Given the description of an element on the screen output the (x, y) to click on. 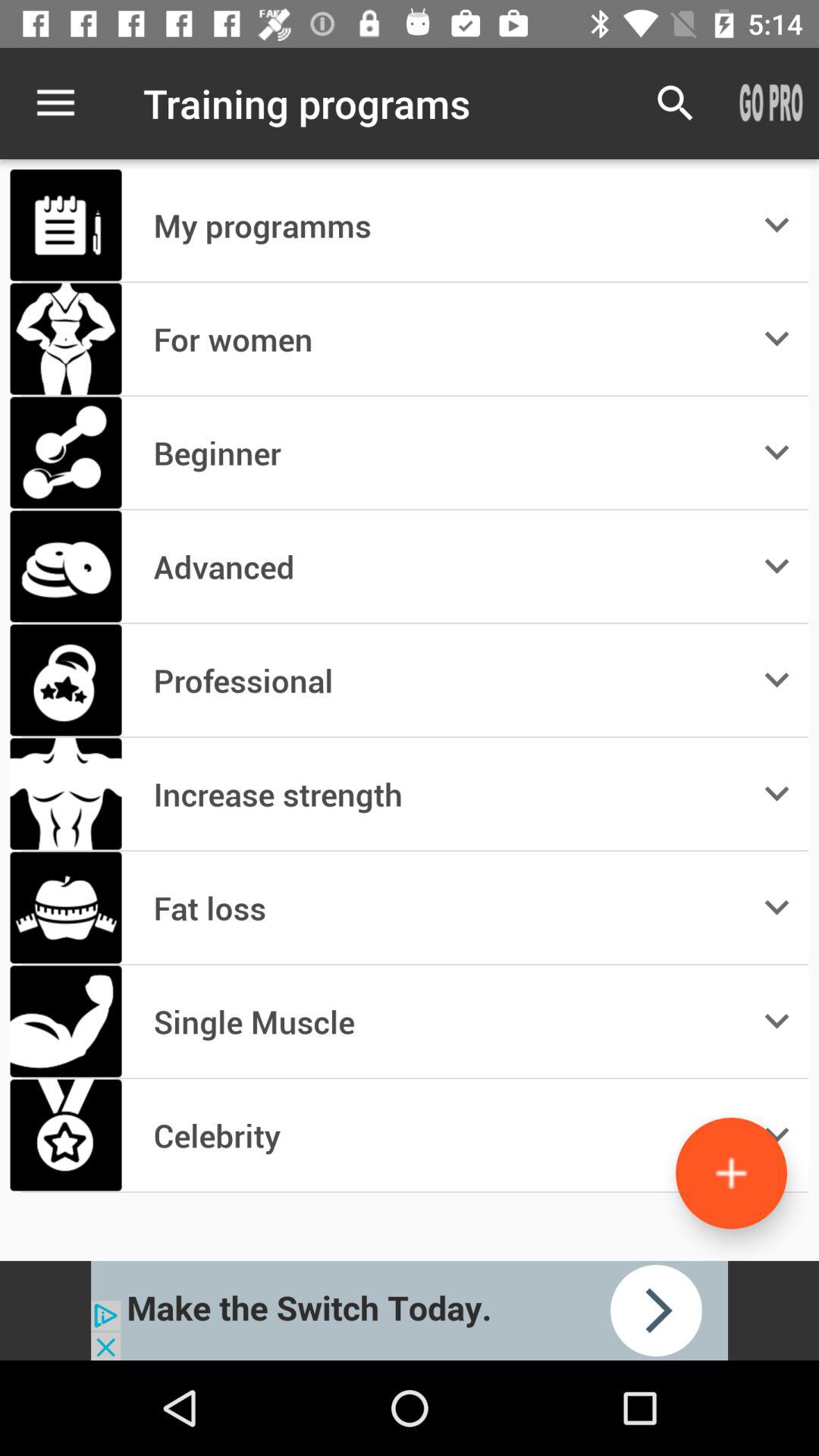
advertisement display section (409, 1310)
